Given the description of an element on the screen output the (x, y) to click on. 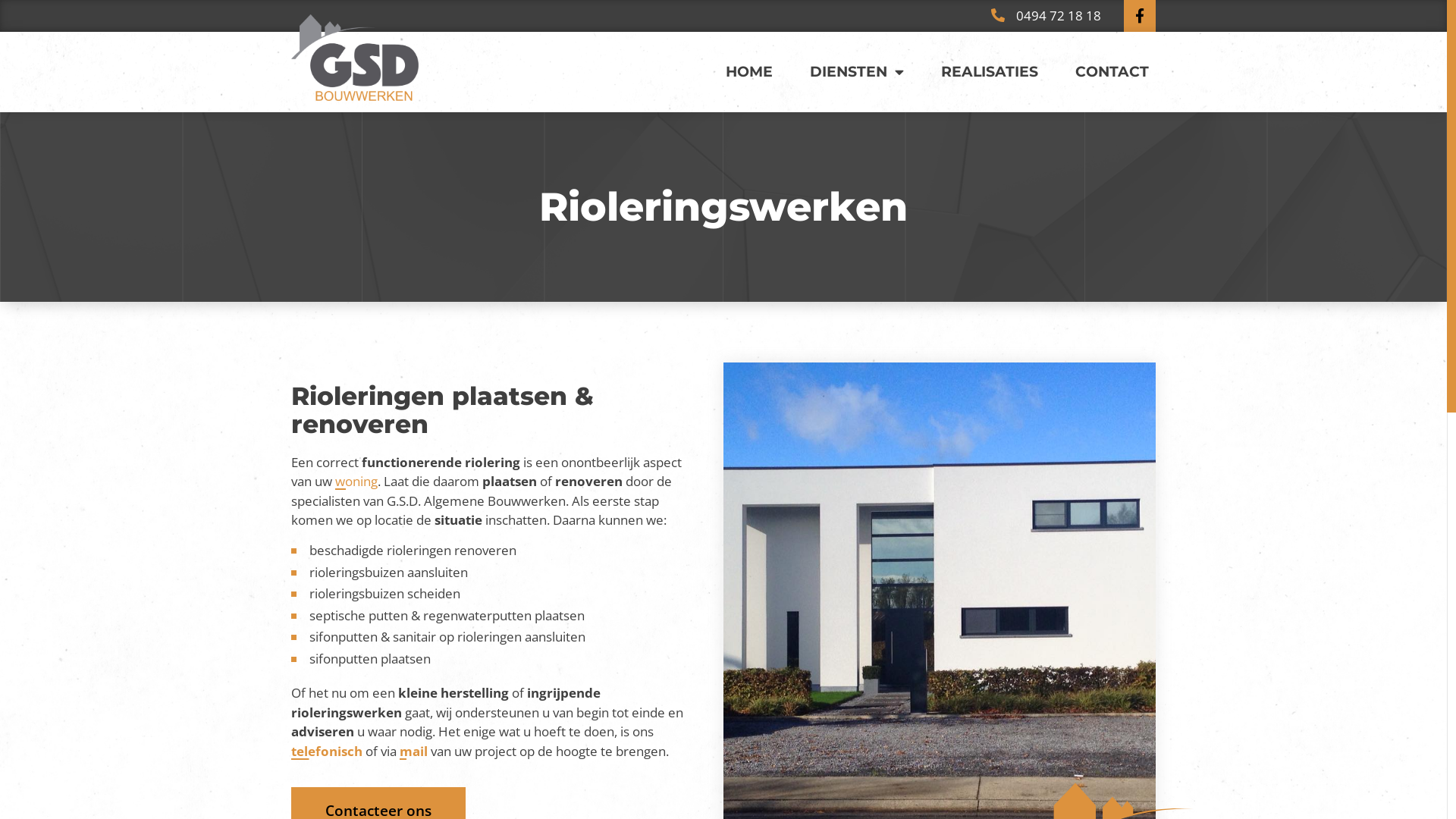
REALISATIES Element type: text (989, 71)
mail Element type: text (413, 750)
CONTACT Element type: text (1111, 71)
woning Element type: text (356, 480)
DIENSTEN Element type: text (856, 71)
0494 72 18 18 Element type: text (1044, 15)
telefonisch Element type: text (326, 750)
HOME Element type: text (748, 71)
